Given the description of an element on the screen output the (x, y) to click on. 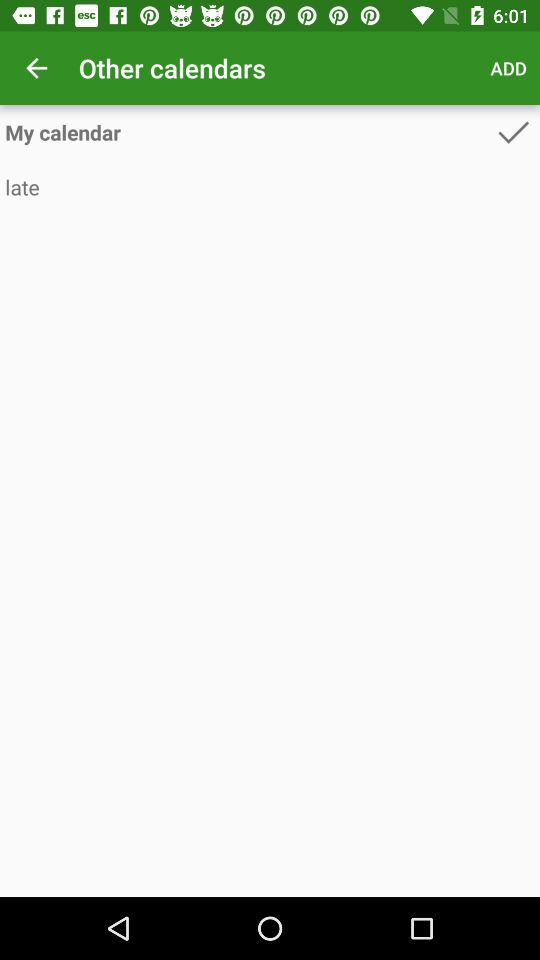
turn off item to the right of the my calendar item (513, 132)
